Given the description of an element on the screen output the (x, y) to click on. 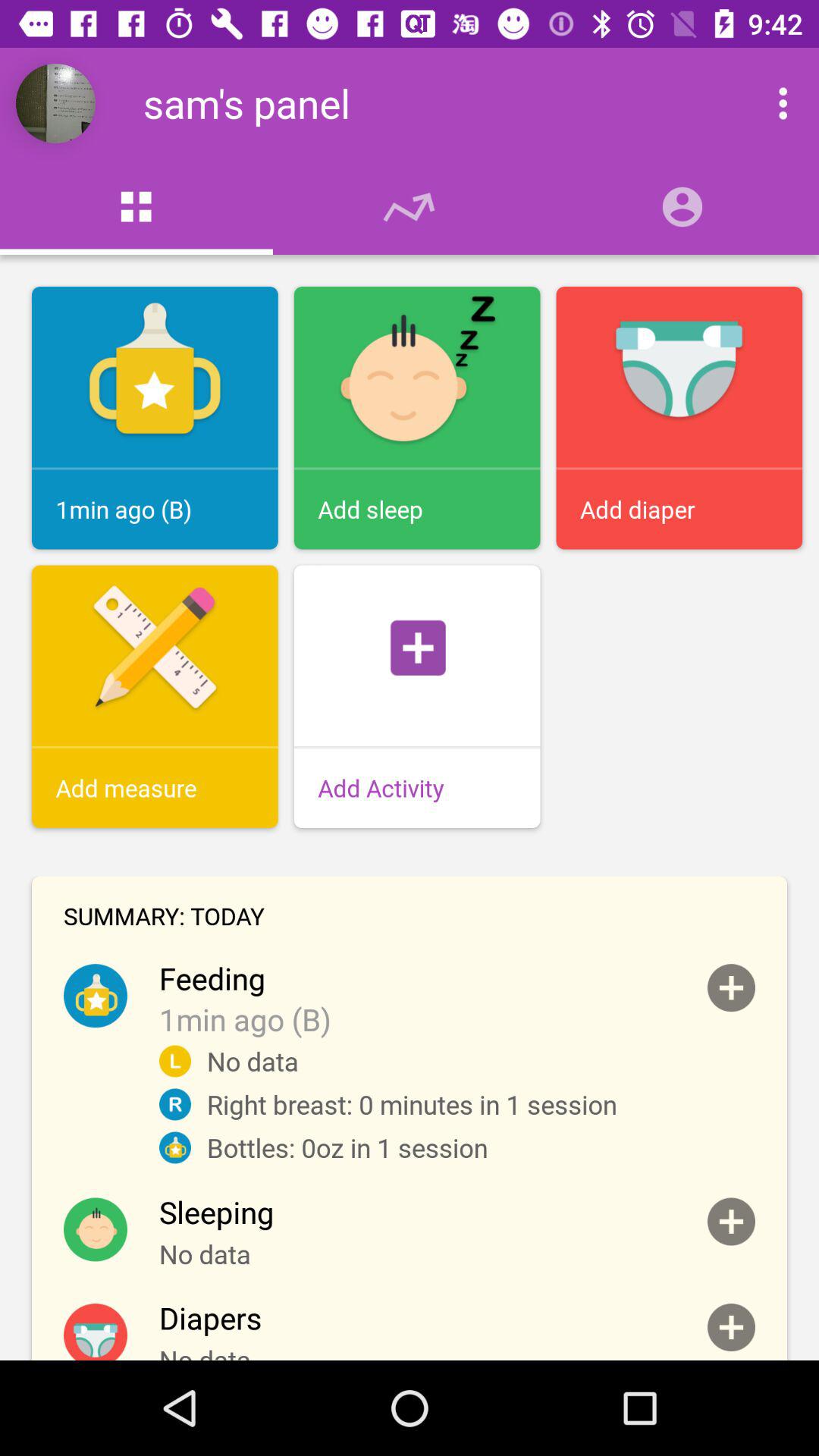
add more data about feeding (731, 987)
